Given the description of an element on the screen output the (x, y) to click on. 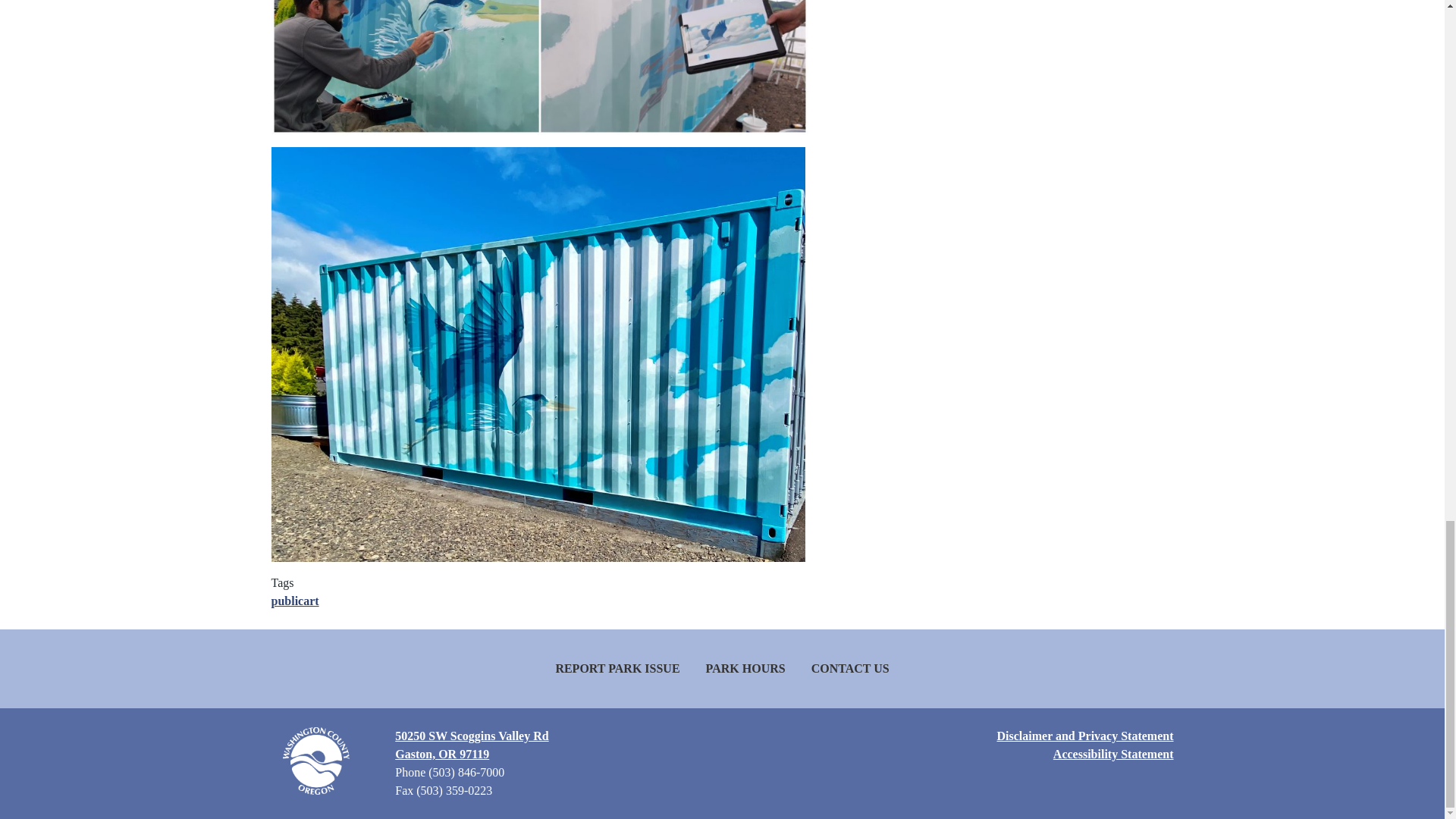
publicart (294, 600)
